Given the description of an element on the screen output the (x, y) to click on. 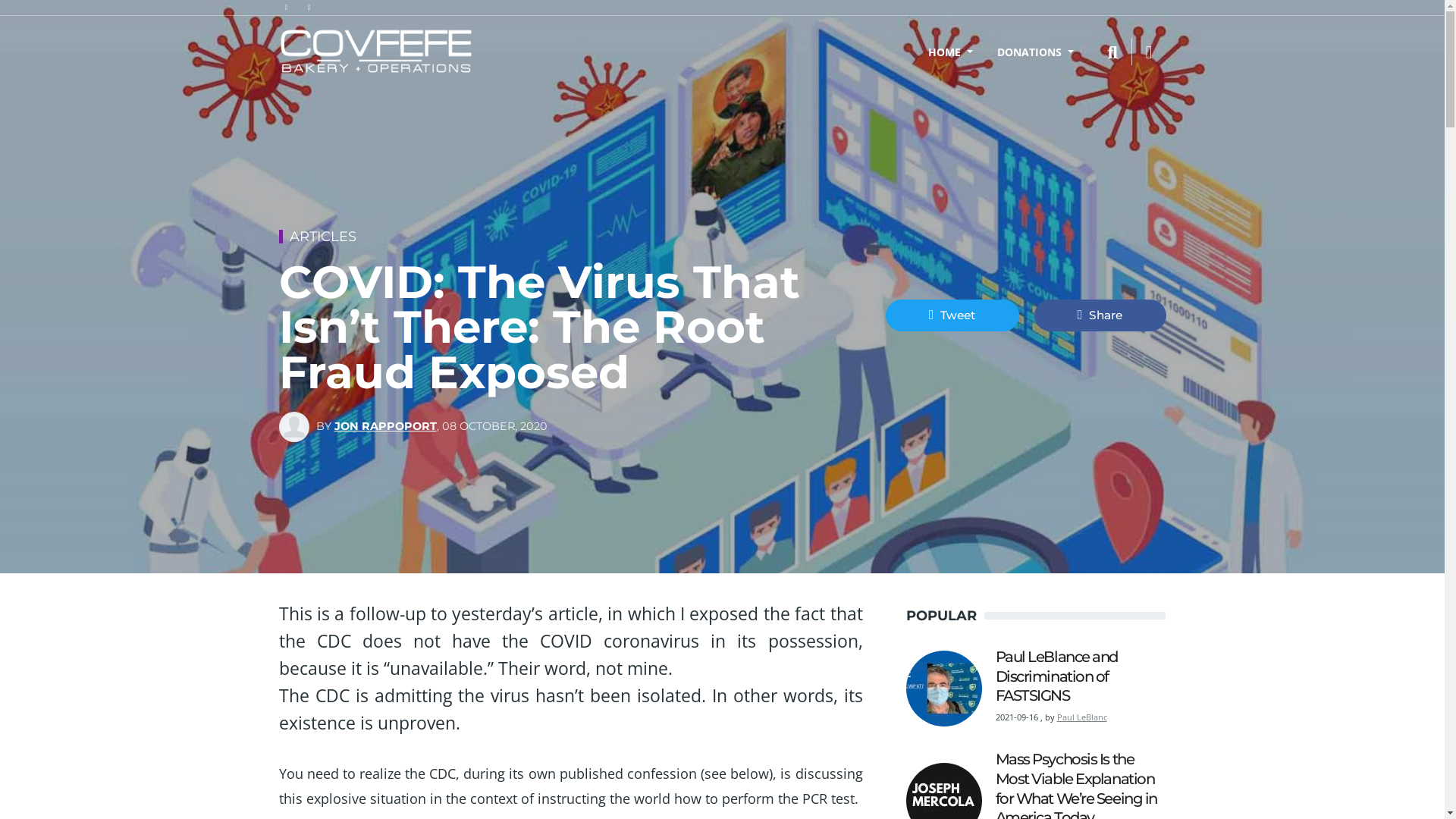
ARTICLES Element type: text (322, 236)
HOME Element type: text (948, 51)
Paul LeBlance and Discrimination of FASTSIGNS Element type: text (1055, 675)
Tweet Element type: text (952, 315)
JON RAPPOPORT Element type: text (384, 426)
Paul LeBlanc Element type: text (1082, 716)
Home Element type: hover (376, 51)
DONATIONS Element type: text (1033, 51)
Share Element type: text (1100, 315)
